Given the description of an element on the screen output the (x, y) to click on. 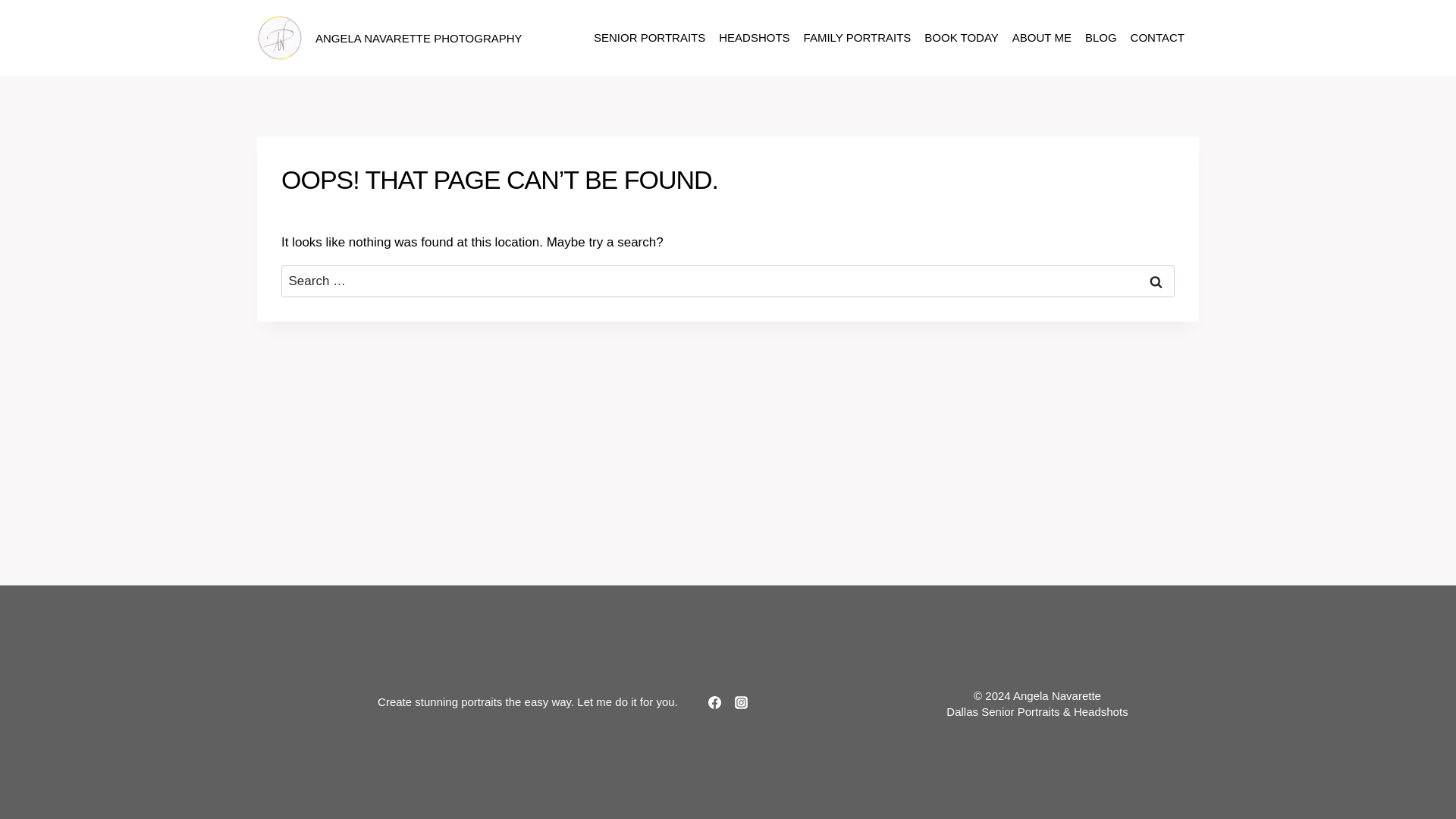
CONTACT (1157, 37)
BLOG (1101, 37)
HEADSHOTS (753, 37)
FAMILY PORTRAITS (857, 37)
BOOK TODAY (961, 37)
Search (1155, 281)
SENIOR PORTRAITS (648, 37)
ABOUT ME (1042, 37)
ANGELA NAVARETTE PHOTOGRAPHY (389, 37)
Search (1155, 281)
Search (1155, 281)
